Given the description of an element on the screen output the (x, y) to click on. 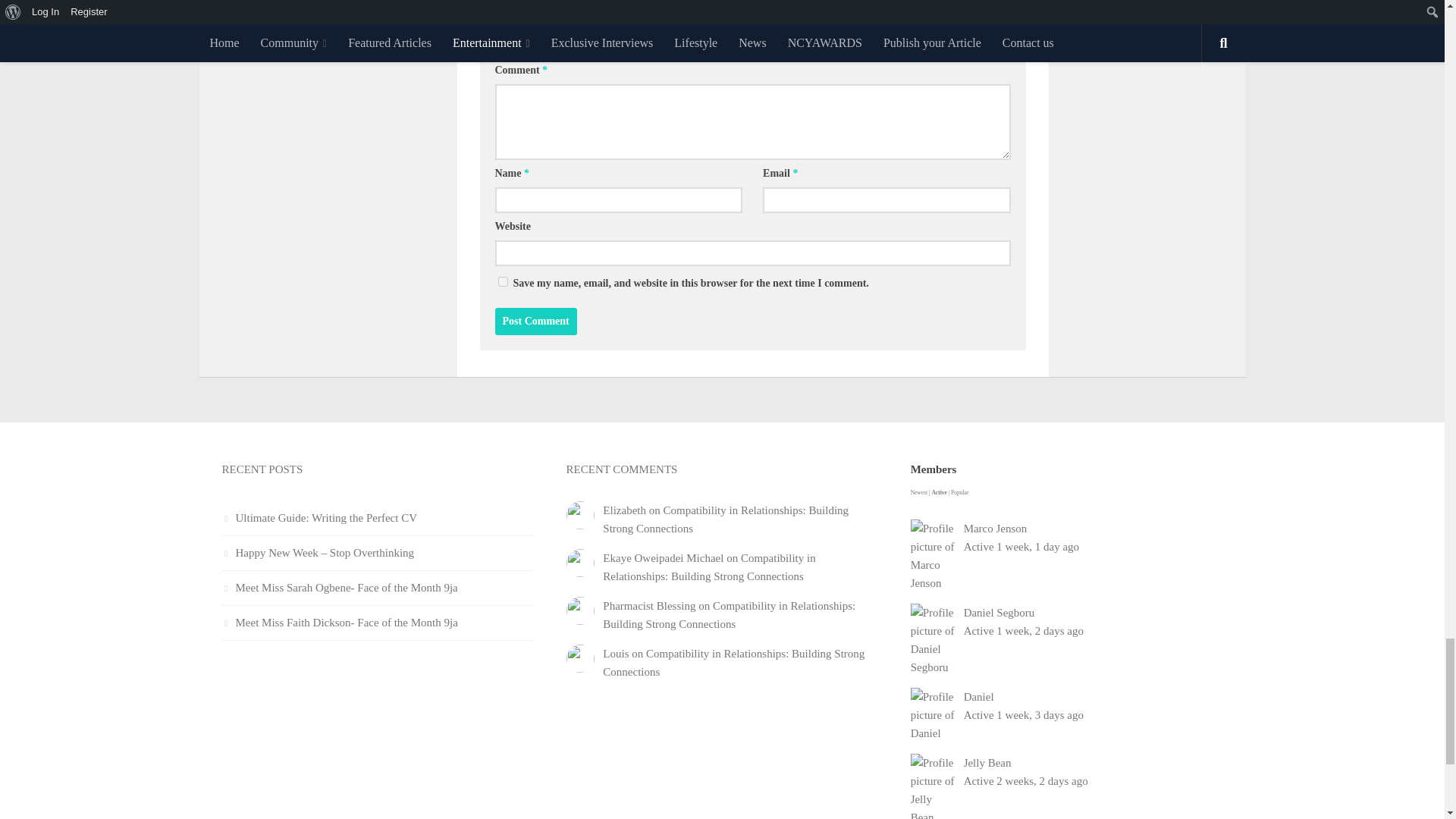
Post Comment (535, 320)
yes (501, 281)
